Given the description of an element on the screen output the (x, y) to click on. 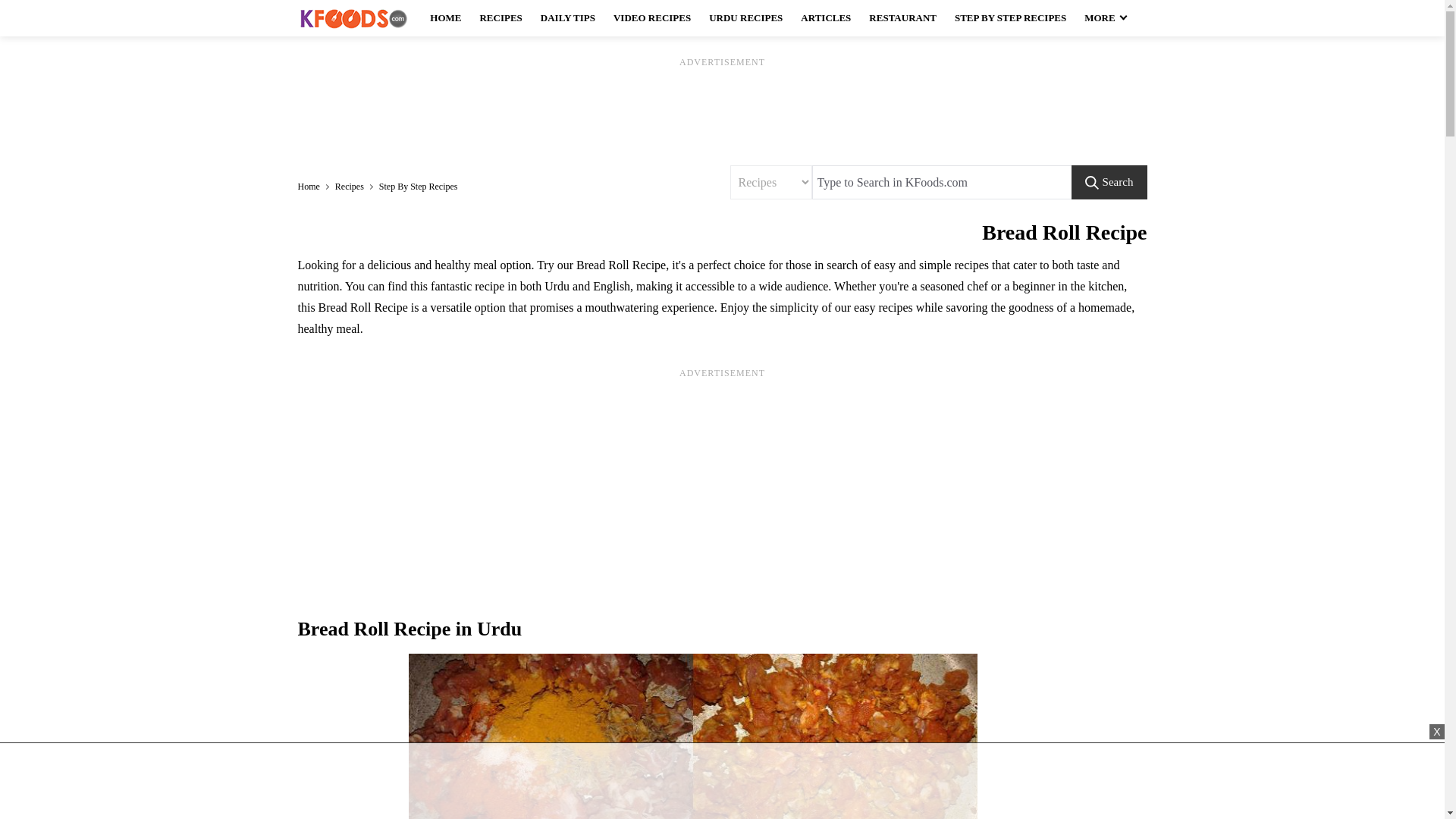
Step By Step Recipes (418, 186)
VIDEO RECIPES (651, 18)
3rd party ad content (721, 490)
STEP BY STEP RECIPES (1010, 18)
MORE (1104, 18)
Search (1108, 182)
3rd party ad content (721, 785)
RESTAURANT (902, 18)
ARTICLES (826, 18)
URDU RECIPES (745, 18)
Home (314, 186)
RECIPES (500, 18)
HOME (445, 18)
Recipes (355, 186)
DAILY TIPS (567, 18)
